Given the description of an element on the screen output the (x, y) to click on. 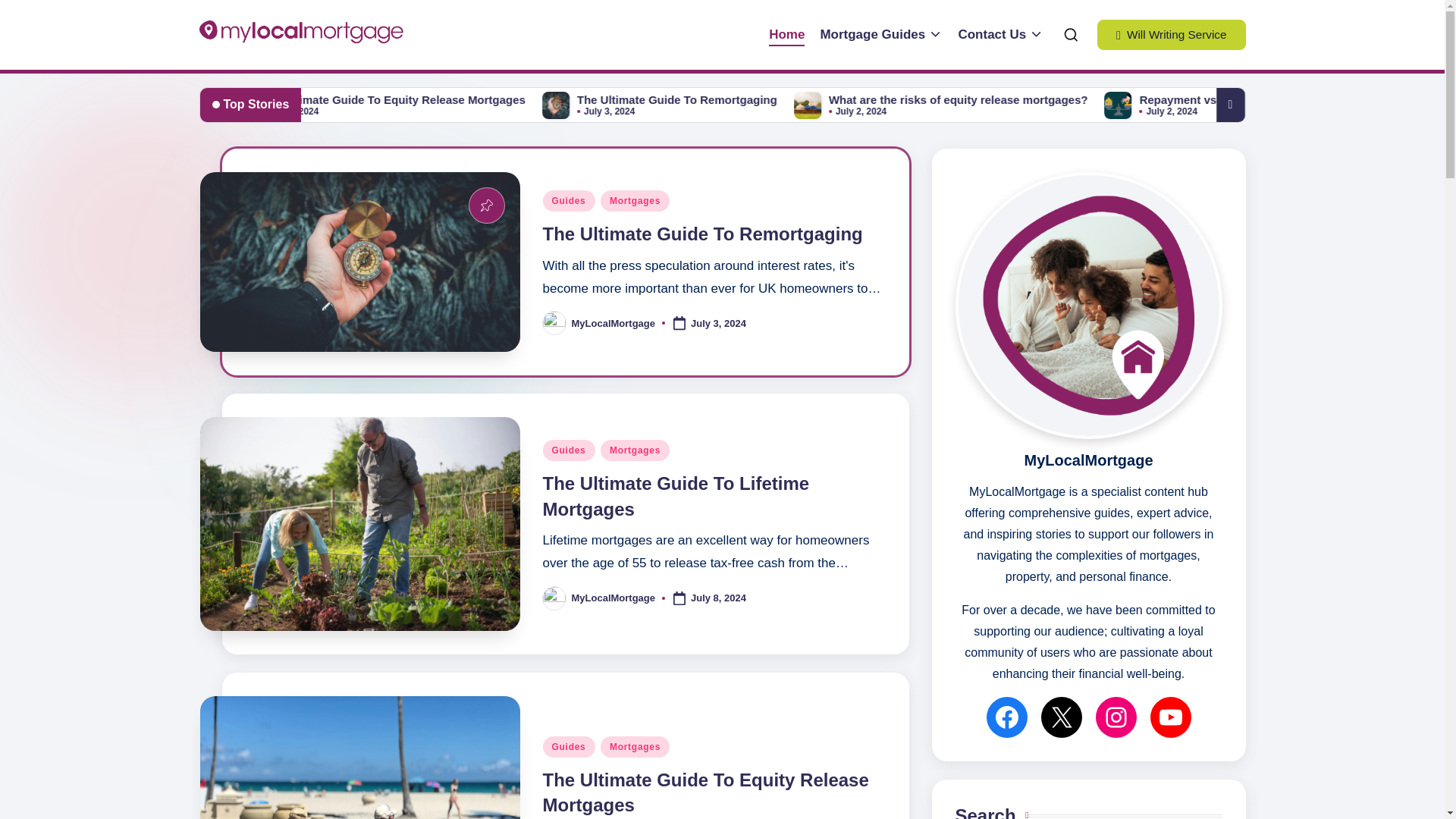
The Ultimate Guide To Equity Release Mortgages (706, 792)
Will Writing Service (1171, 34)
What are the risks of equity release mortgages? (1241, 99)
The Ultimate Guide To Lifetime Mortgages (676, 496)
Featured (486, 205)
The Ultimate Guide To Remortgaging (703, 233)
The Ultimate Guide To Lifetime Mortgages (394, 99)
The Ultimate Guide To Remortgaging (964, 99)
View all posts by MyLocalMortgage (614, 323)
The Ultimate Guide To Equity Release Mortgages (685, 99)
